Given the description of an element on the screen output the (x, y) to click on. 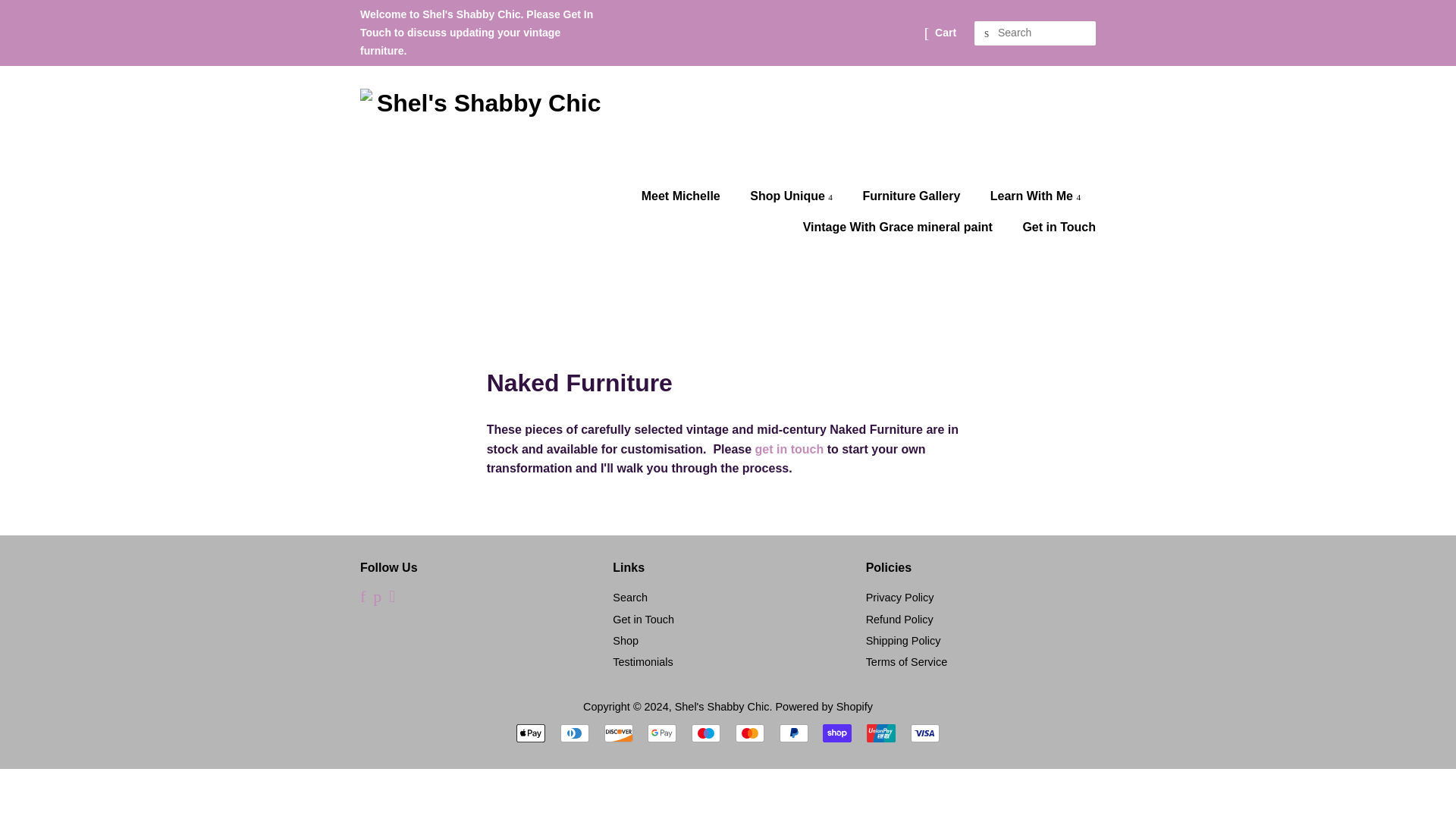
Diners Club (574, 732)
Apple Pay (530, 732)
Learn With Me (1037, 195)
Shop Pay (836, 732)
PayPal (793, 732)
Meet Michelle (688, 195)
Furniture Gallery (912, 195)
Get in Touch (1053, 226)
Search (629, 597)
Get in Touch (643, 619)
Maestro (705, 732)
Naked Furniture to Get in Touch page (789, 449)
Cart (945, 33)
get in touch (789, 449)
Visa (925, 732)
